Given the description of an element on the screen output the (x, y) to click on. 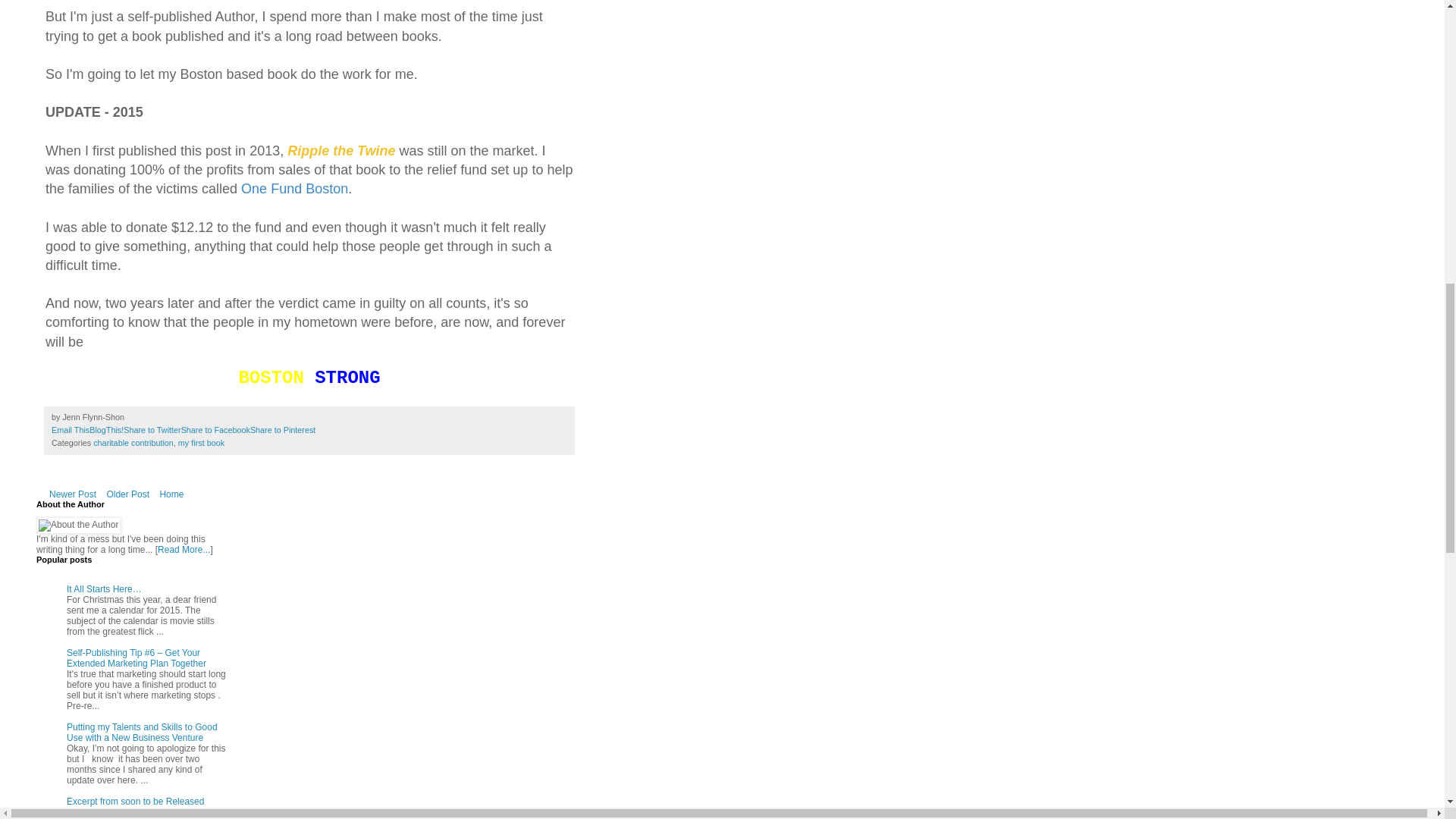
Share to Twitter (151, 429)
Excerpt from soon to be Released Reckless Hearts (134, 806)
Email This (69, 429)
Older Post (126, 494)
Email This (69, 429)
Share to Pinterest (282, 429)
Share to Twitter (151, 429)
One Fund Boston (294, 188)
Newer Post (72, 494)
BlogThis! (105, 429)
Older Post (126, 494)
Email Post (132, 416)
charitable contribution (133, 442)
my first book (200, 442)
